Given the description of an element on the screen output the (x, y) to click on. 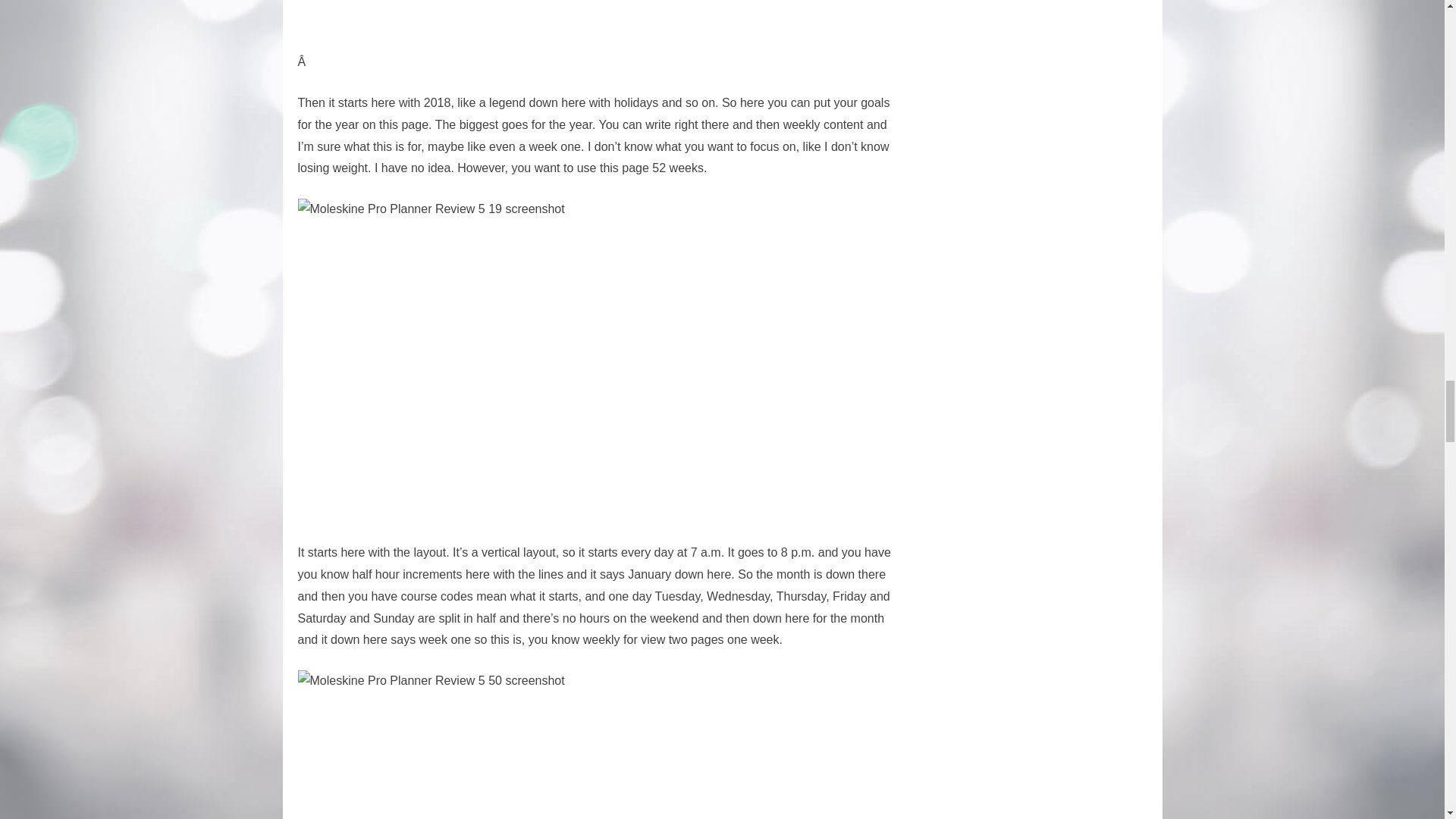
Moleskine Pro Planner Review 27 (585, 25)
Moleskine Pro Planner Review 29 (585, 744)
